Given the description of an element on the screen output the (x, y) to click on. 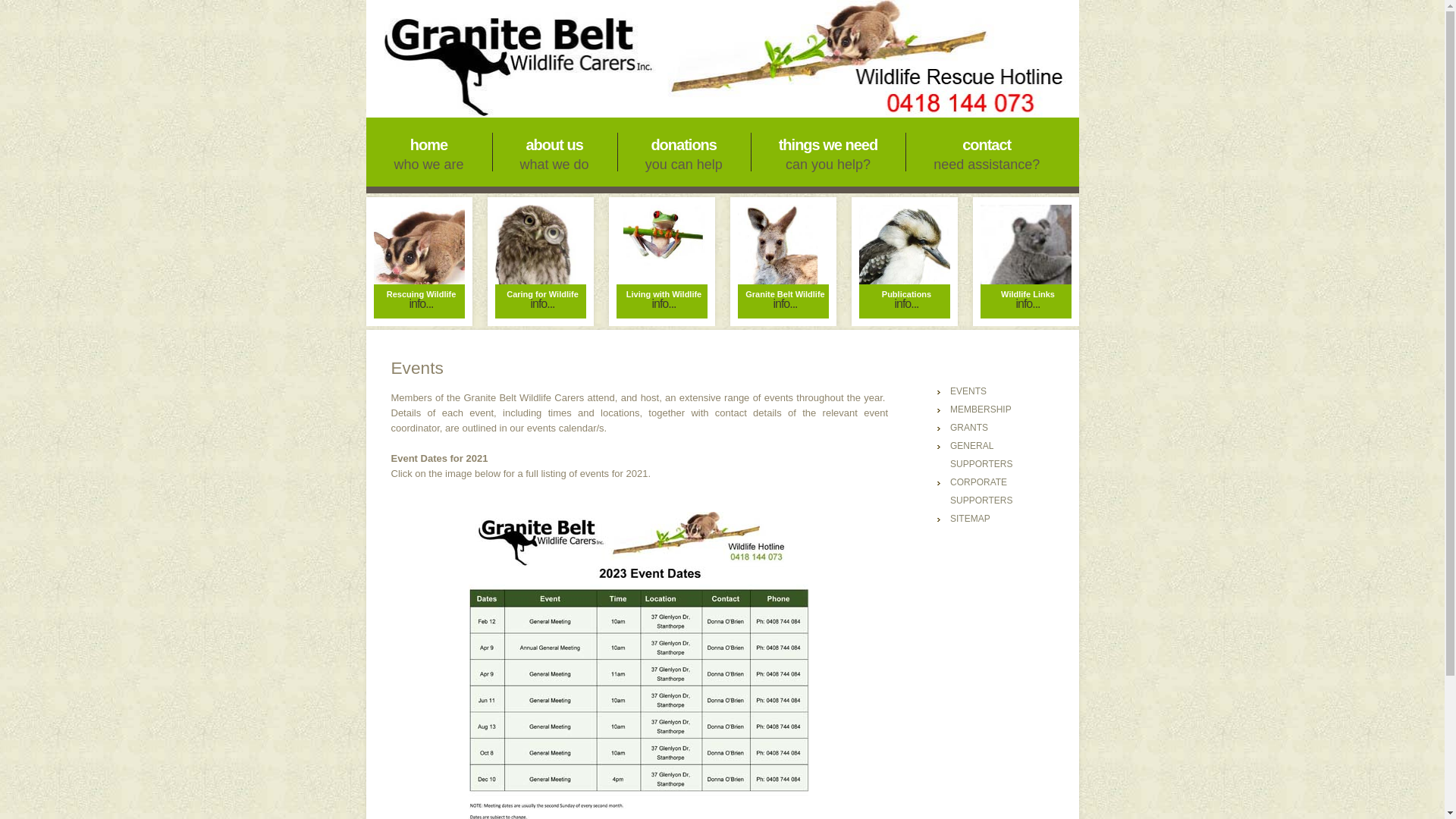
info... Element type: text (1036, 303)
GRANTS Element type: text (969, 427)
donations
you can help Element type: text (683, 152)
MEMBERSHIP Element type: text (980, 409)
info... Element type: text (915, 303)
about us
what we do Element type: text (554, 152)
GENERAL SUPPORTERS Element type: text (981, 454)
info... Element type: text (672, 303)
things we need
can you help? Element type: text (827, 152)
info... Element type: text (793, 303)
contact
need assistance? Element type: text (986, 152)
CORPORATE SUPPORTERS Element type: text (981, 490)
info... Element type: text (429, 303)
info... Element type: text (551, 303)
EVENTS Element type: text (968, 390)
home
who we are Element type: text (428, 152)
SITEMAP Element type: text (970, 518)
